Given the description of an element on the screen output the (x, y) to click on. 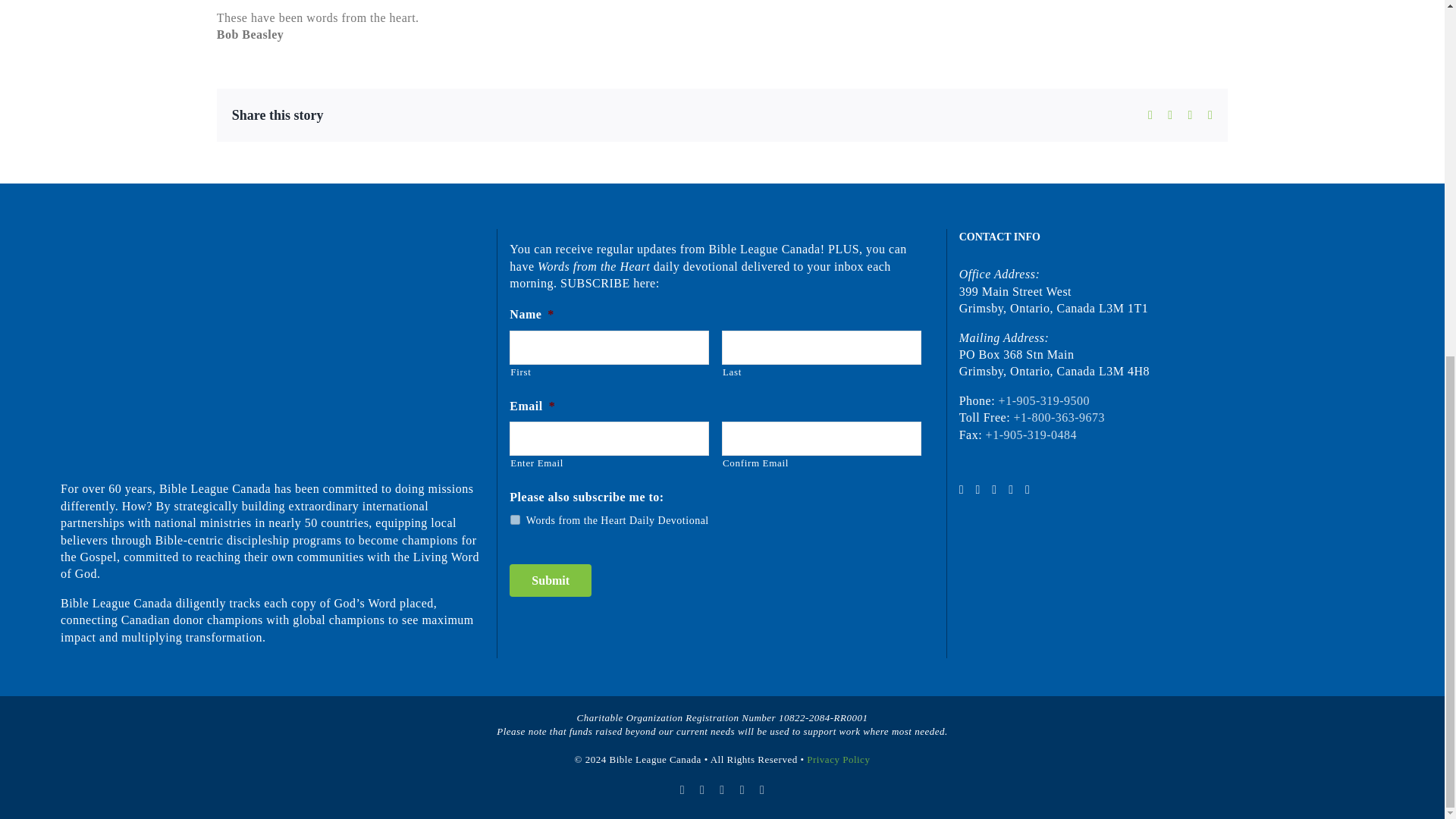
Submit (550, 580)
Words from the Heart Daily Devotional (515, 519)
